Given the description of an element on the screen output the (x, y) to click on. 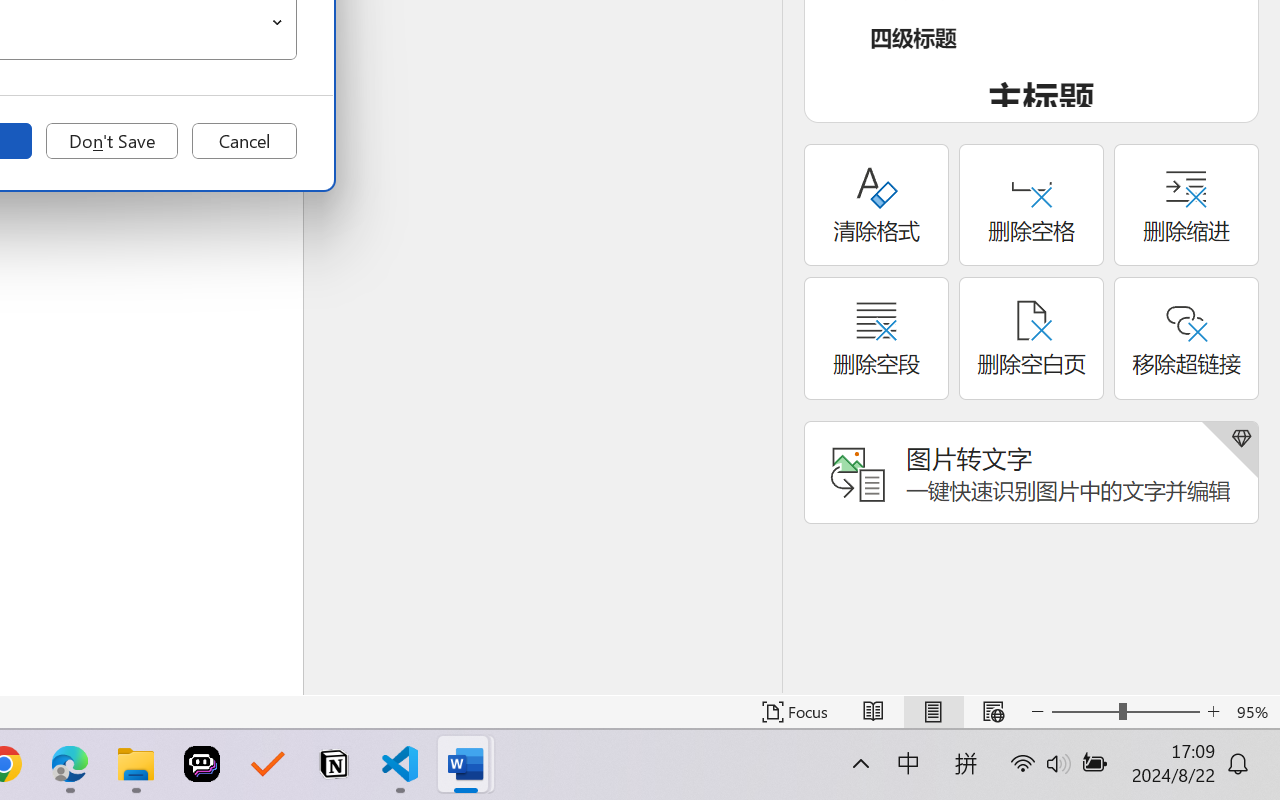
Zoom 95% (1253, 712)
